Given the description of an element on the screen output the (x, y) to click on. 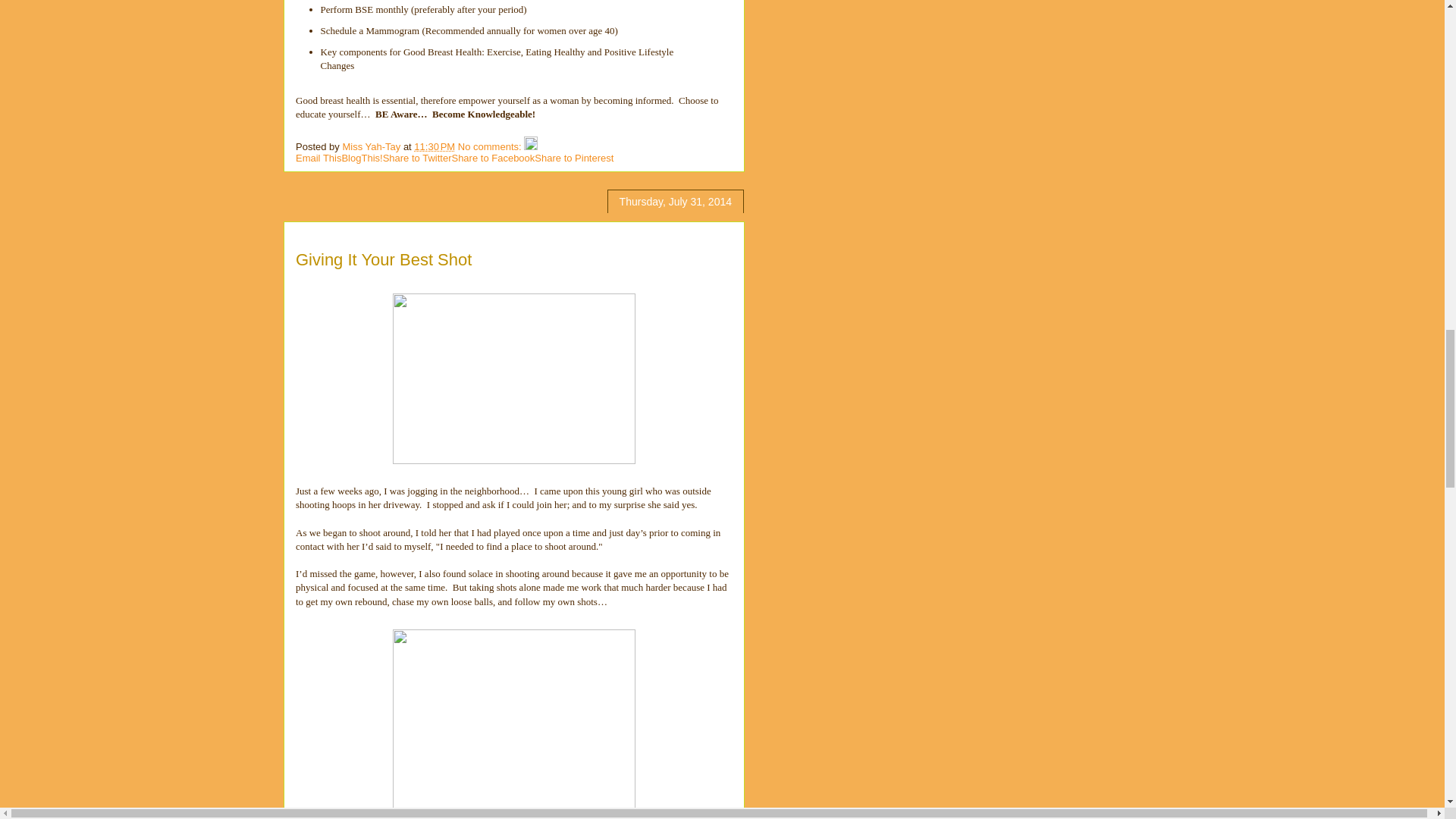
Share to Facebook (492, 157)
permanent link (433, 146)
No comments: (491, 146)
BlogThis! (360, 157)
Share to Twitter (416, 157)
Edit Post (530, 146)
Giving It Your Best Shot (383, 259)
Share to Facebook (492, 157)
BlogThis! (360, 157)
Miss Yah-Tay (372, 146)
Share to Twitter (416, 157)
Share to Pinterest (573, 157)
Email This (317, 157)
author profile (372, 146)
Email This (317, 157)
